Given the description of an element on the screen output the (x, y) to click on. 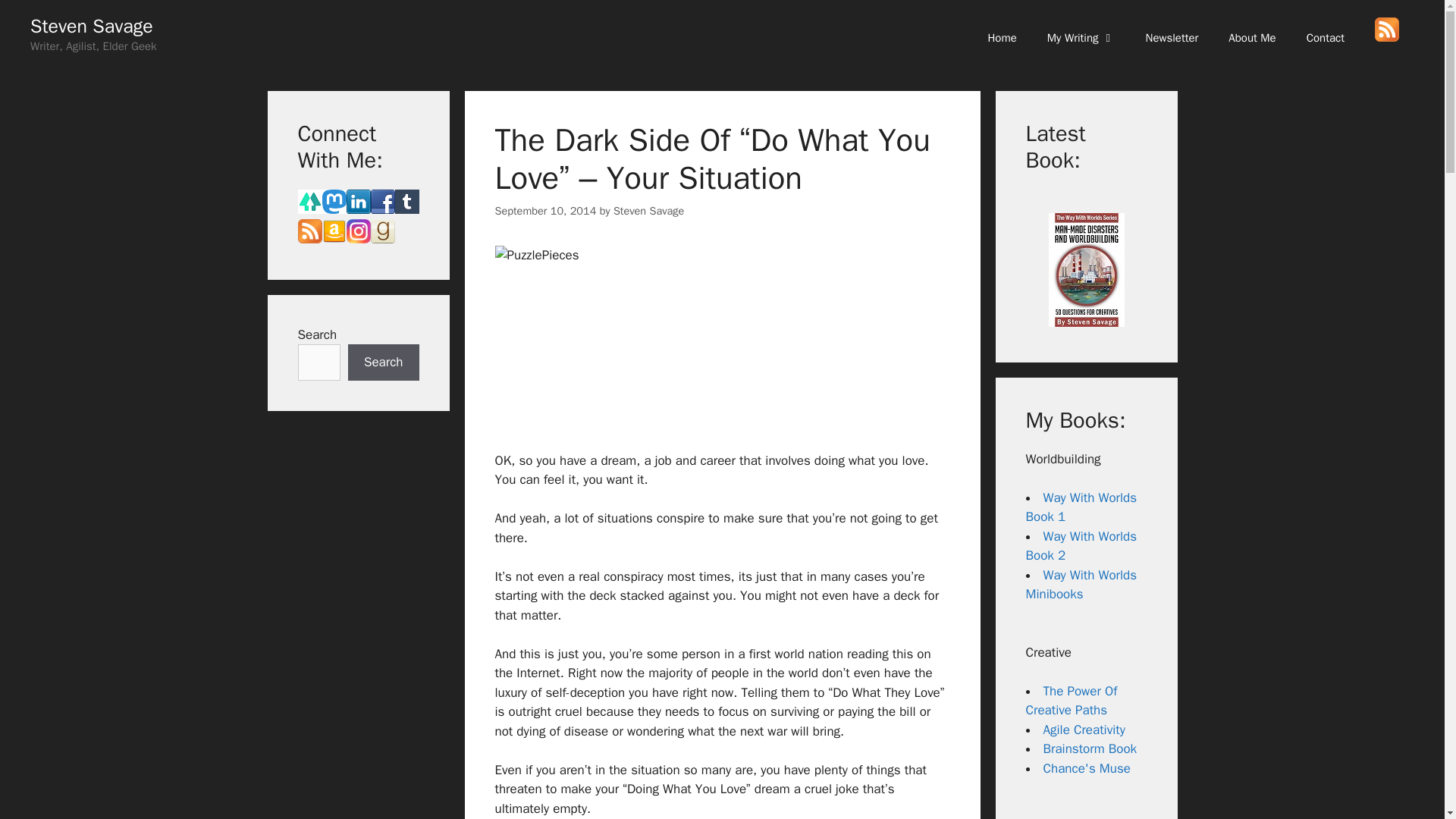
Search (383, 361)
My Writing (1081, 37)
Home (1001, 37)
Steven Savage (91, 25)
Contact (1325, 37)
Steven Savage (648, 210)
View all posts by Steven Savage (648, 210)
About Me (1251, 37)
Newsletter (1172, 37)
